Given the description of an element on the screen output the (x, y) to click on. 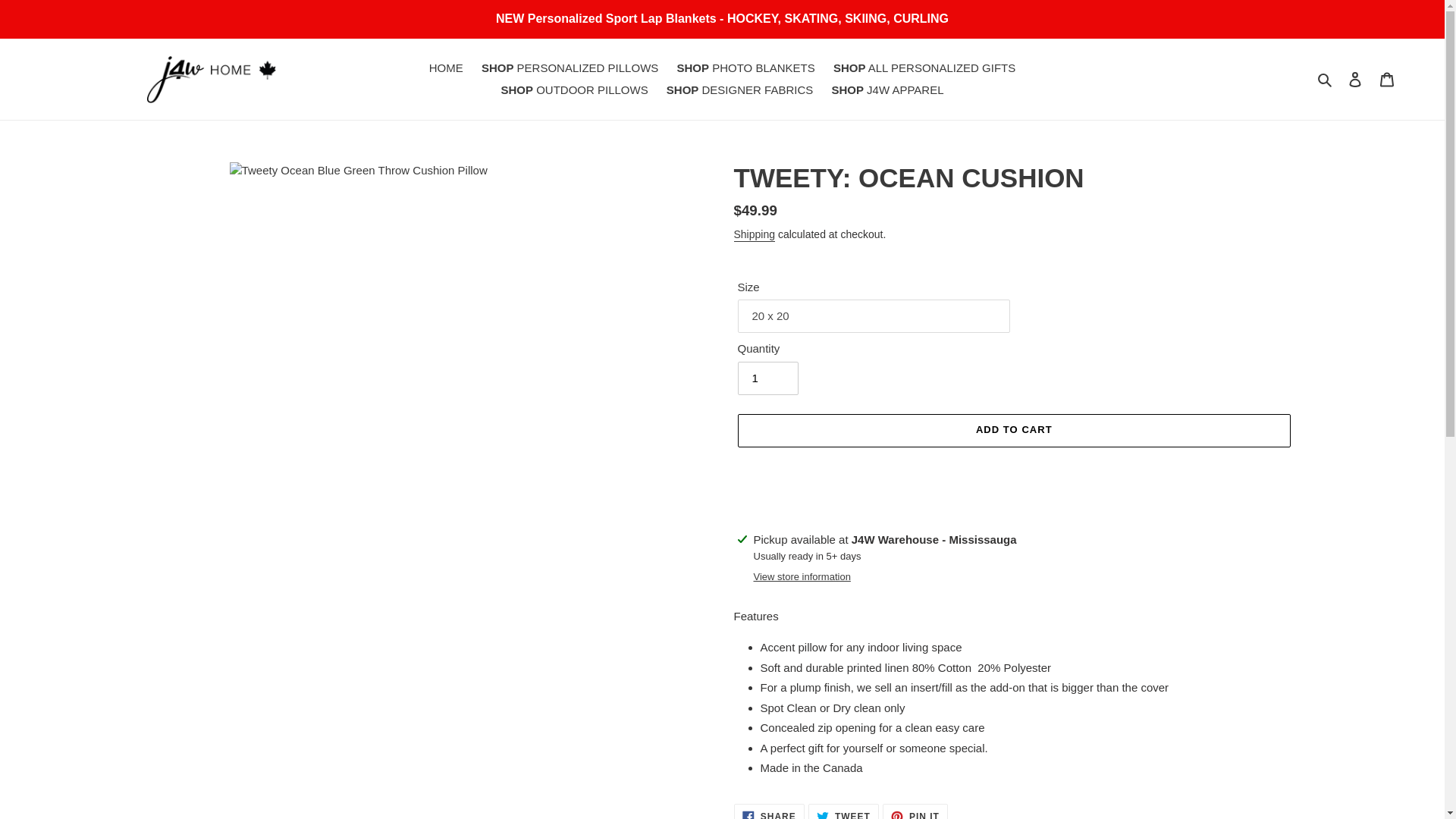
SHOP ALL PERSONALIZED GIFTS (924, 68)
View store information (802, 576)
SHOP DESIGNER FABRICS (769, 811)
SHOP J4W APPAREL (740, 89)
Cart (887, 89)
Log in (843, 811)
HOME (914, 811)
